Given the description of an element on the screen output the (x, y) to click on. 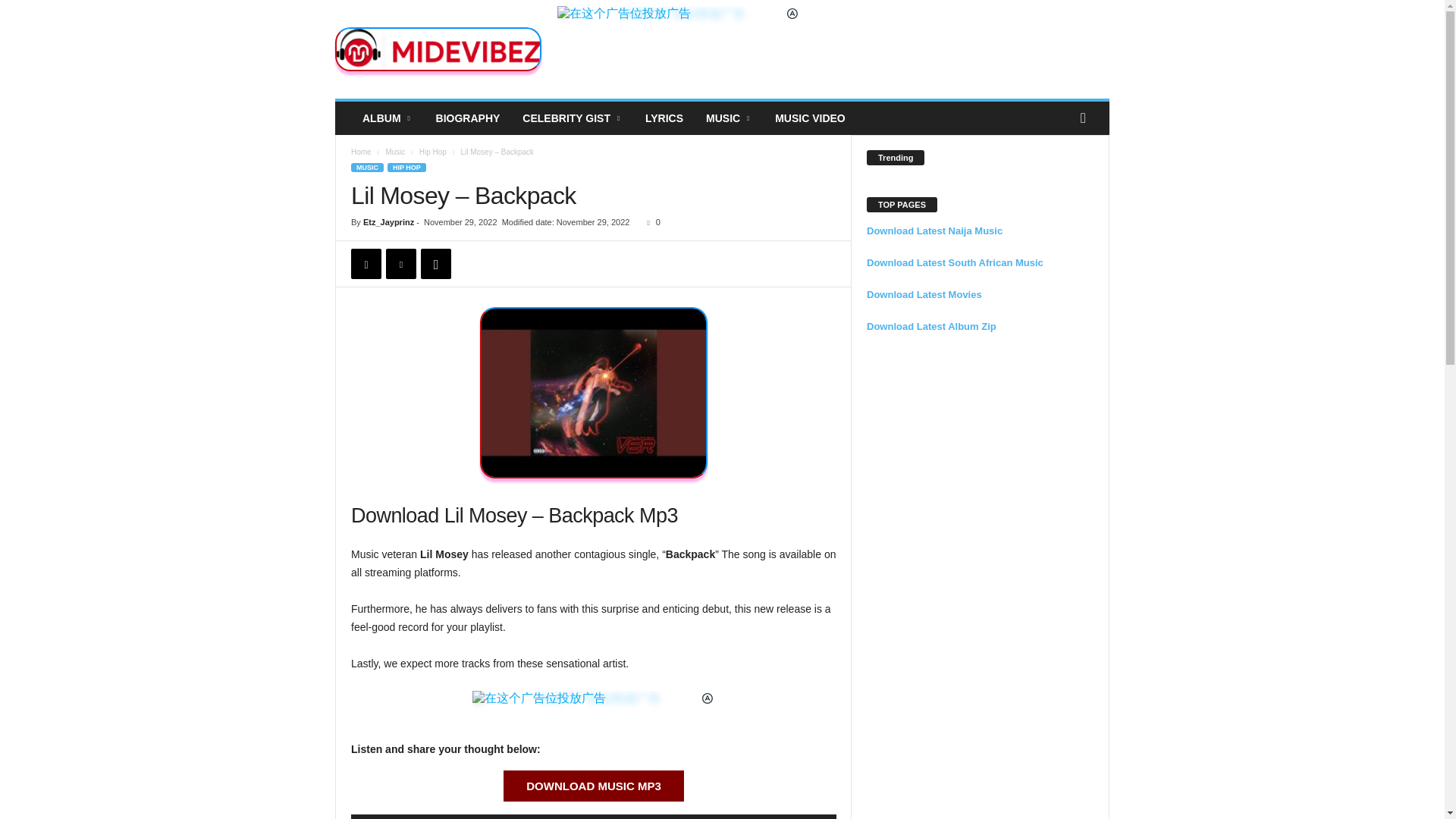
MUSIC (728, 118)
BIOGRAPHY (468, 118)
MideVibez (437, 48)
View all posts in Hip Hop (432, 152)
Twitter (400, 263)
Facebook (365, 263)
CELEBRITY GIST (572, 118)
ALBUM (387, 118)
WhatsApp (435, 263)
View all posts in Music (394, 152)
LYRICS (663, 118)
